Given the description of an element on the screen output the (x, y) to click on. 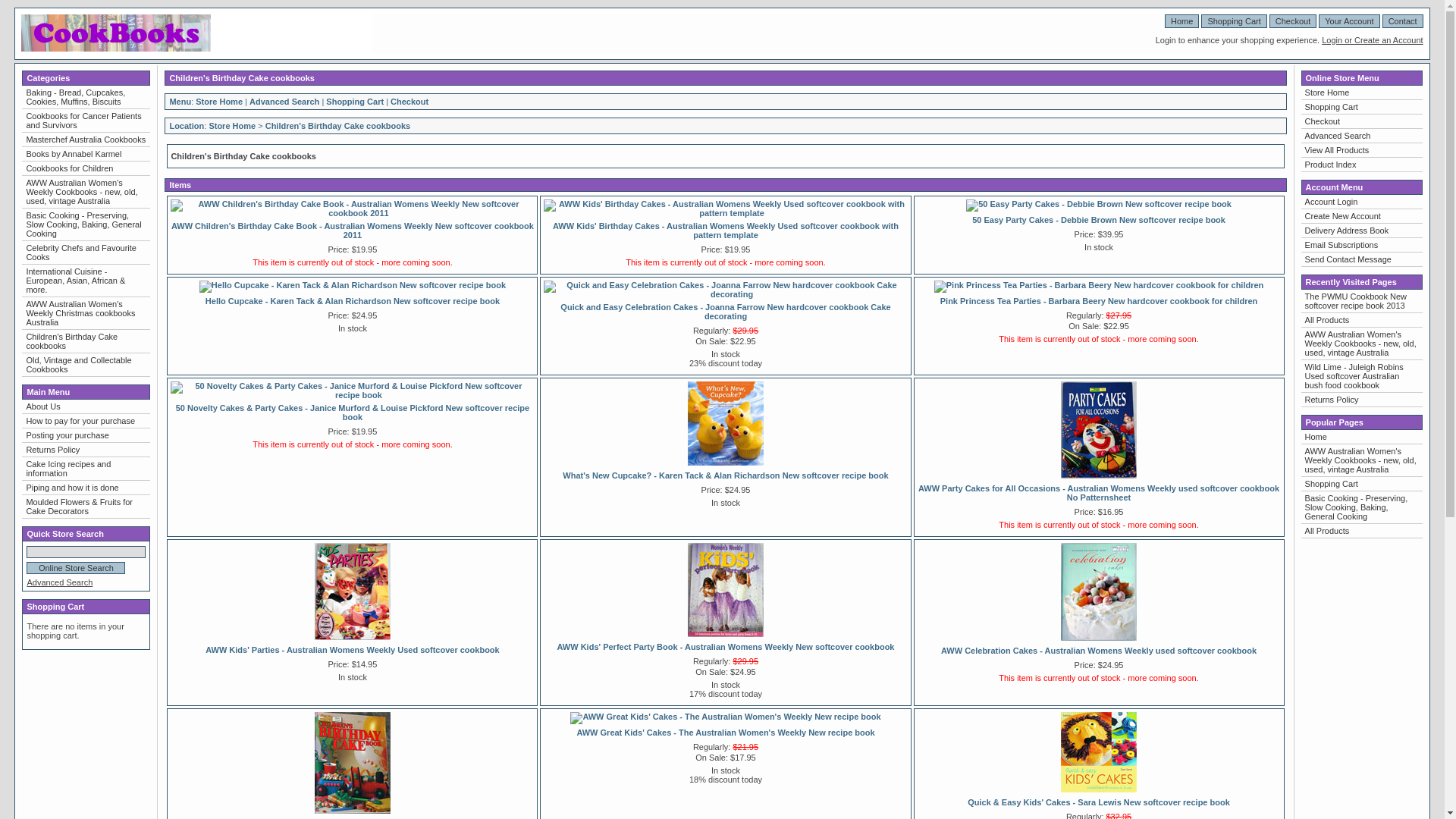
Old, Vintage and Collectable Cookbooks Element type: text (85, 364)
The PWMU Cookbook New softcover recipe book 2013 Element type: text (1361, 300)
Home Element type: hover (115, 48)
Moulded Flowers & Fruits for Cake Decorators Element type: text (85, 506)
Store Home Element type: text (231, 125)
Home Element type: text (1361, 436)
Piping and how it is done Element type: text (85, 487)
Shopping Cart Element type: text (354, 101)
Cookbooks for Cancer Patients and Survivors Element type: text (85, 120)
Shopping Cart Element type: text (1361, 483)
International Cuisine - European, Asian, African & more. Element type: text (85, 280)
Send Contact Message Element type: text (1361, 259)
Home Element type: text (1181, 21)
Product Index Element type: text (1361, 164)
Store Home Element type: text (218, 101)
50 Easy Party Cakes - Debbie Brown New softcover recipe book Element type: hover (1098, 203)
Cookbooks for Children Element type: text (85, 168)
Checkout Element type: text (409, 101)
Contact Element type: text (1402, 21)
Login or Create an Account Element type: text (1371, 39)
Advanced Search Element type: text (284, 101)
Returns Policy Element type: text (85, 449)
Checkout Element type: text (1292, 21)
About Us Element type: text (85, 406)
How to pay for your purchase Element type: text (85, 420)
Returns Policy Element type: text (1361, 399)
Children's Birthday Cake cookbooks Element type: text (85, 340)
Shopping Cart Element type: text (1233, 21)
Posting your purchase Element type: text (85, 435)
50 Easy Party Cakes - Debbie Brown New softcover recipe book Element type: text (1098, 219)
Email Subscriptions Element type: text (1361, 244)
Advanced Search Element type: text (1361, 135)
Celebrity Chefs and Favourite Cooks Element type: text (85, 252)
AWW Australian Women's Weekly Christmas cookbooks Australia Element type: text (85, 313)
Online Store Search Element type: text (75, 567)
Baking - Bread, Cupcakes, Cookies, Muffins, Biscuits Element type: text (85, 96)
View All Products Element type: text (1361, 149)
Store Home Element type: text (1361, 92)
Masterchef Australia Cookbooks Element type: text (85, 139)
All Products Element type: text (1361, 319)
Cake Icing recipes and information Element type: text (85, 468)
Books by Annabel Karmel Element type: text (85, 153)
Your Account Element type: text (1348, 21)
Checkout Element type: text (1361, 121)
Advanced Search Element type: text (59, 581)
Children's Birthday Cake cookbooks Element type: text (338, 125)
Shopping Cart Element type: text (1361, 106)
Create New Account Element type: text (1361, 215)
Account Login Element type: text (1361, 201)
All Products Element type: text (1361, 530)
Delivery Address Book Element type: text (1361, 230)
